Given the description of an element on the screen output the (x, y) to click on. 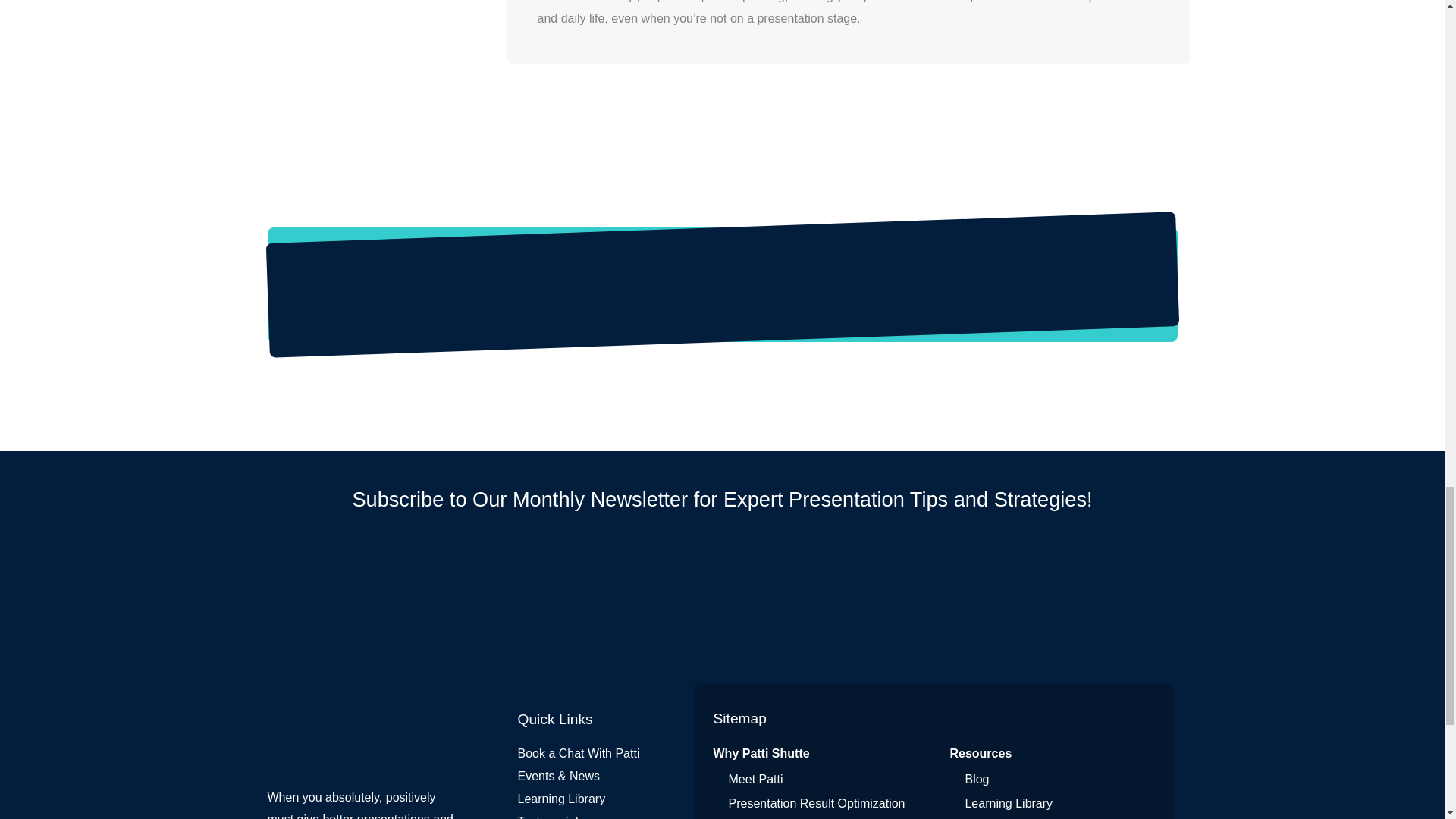
News Letter Signup Form v1.0 - Simple (722, 584)
